Given the description of an element on the screen output the (x, y) to click on. 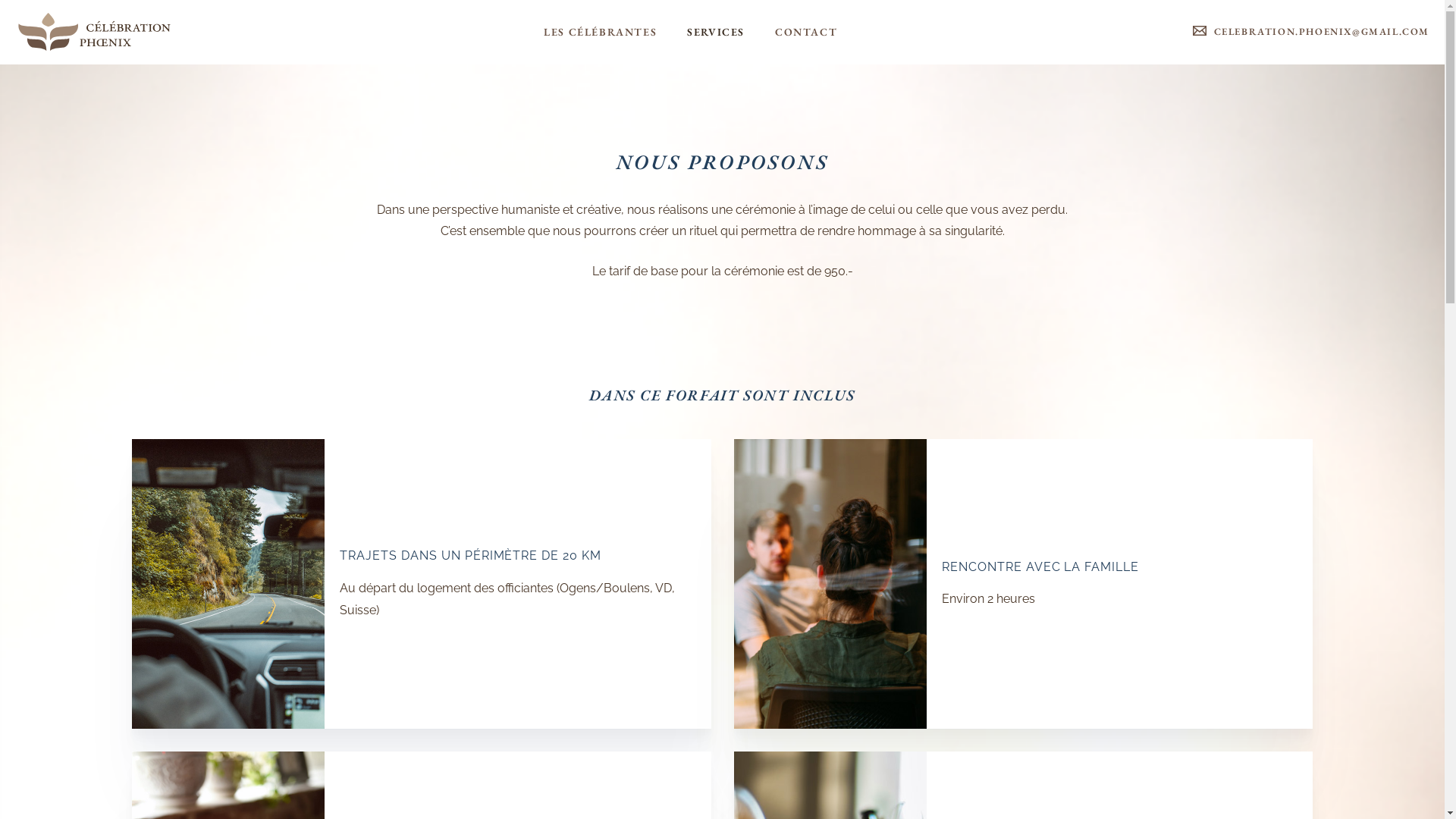
SERVICES Element type: text (715, 31)
CELEBRATION.PHOENIX@GMAIL.COM Element type: text (1321, 31)
CONTACT Element type: text (805, 31)
